Given the description of an element on the screen output the (x, y) to click on. 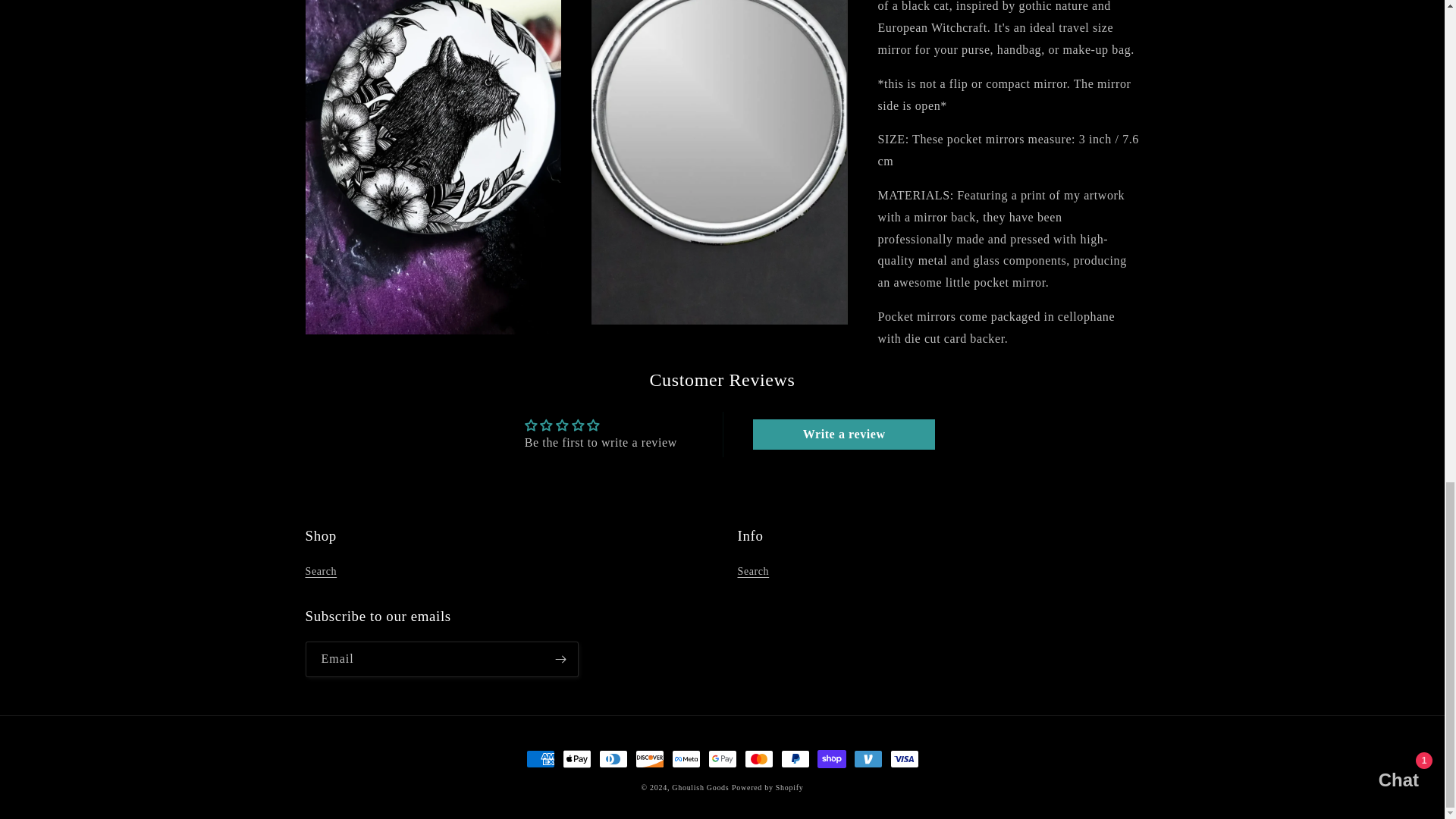
Search (320, 572)
Write a review (843, 434)
